Given the description of an element on the screen output the (x, y) to click on. 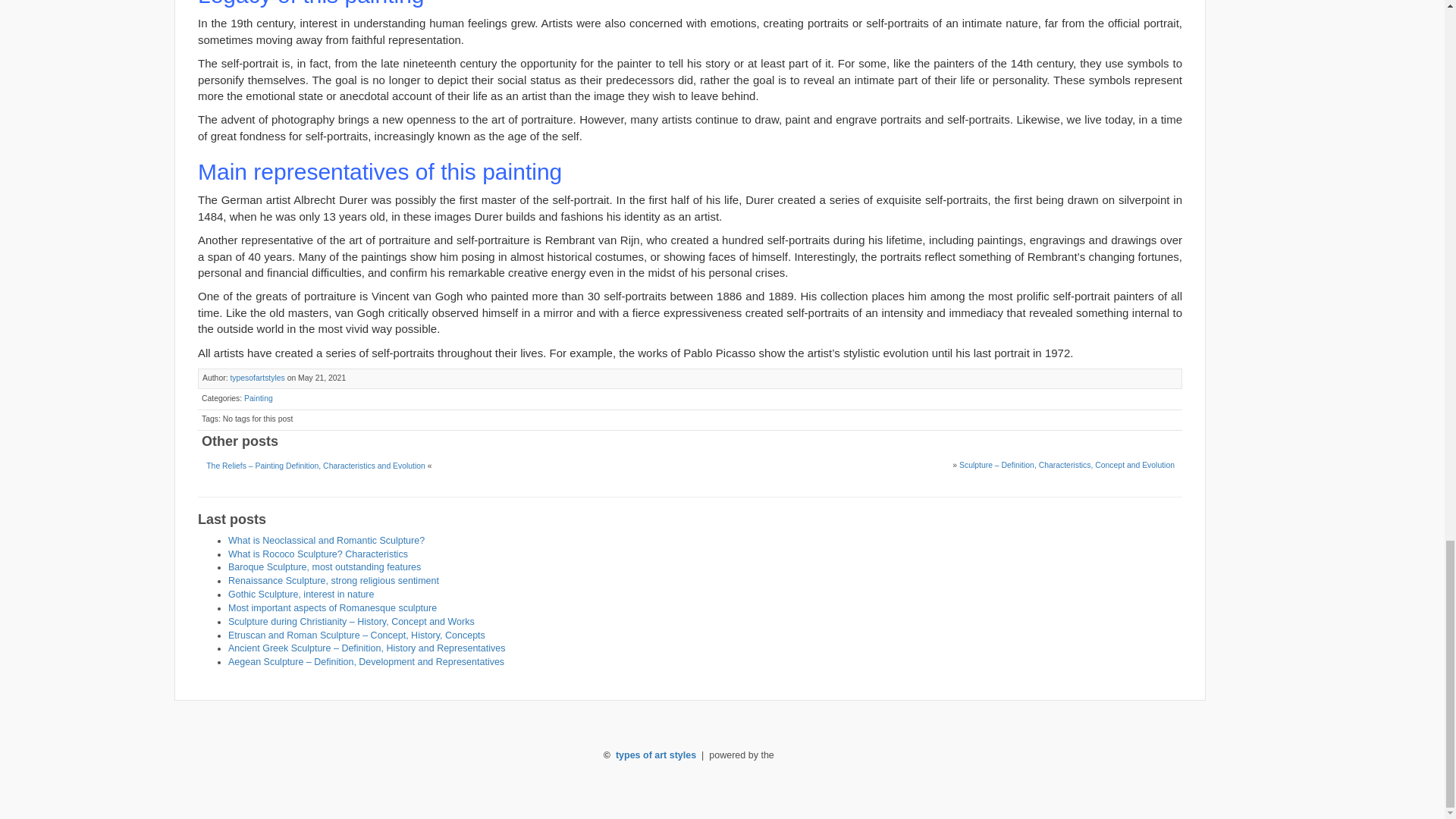
What is Neoclassical and Romantic Sculpture? (326, 540)
What is Rococo Sculpture? Characteristics (317, 553)
Renaissance Sculpture, strong religious sentiment (333, 580)
Gothic Sculpture, interest in nature (301, 593)
Baroque Sculpture, most outstanding features (324, 566)
typesofartstyles (256, 377)
Posts by typesofartstyles (256, 377)
Painting (258, 397)
Most important aspects of Romanesque sculpture (332, 607)
